Given the description of an element on the screen output the (x, y) to click on. 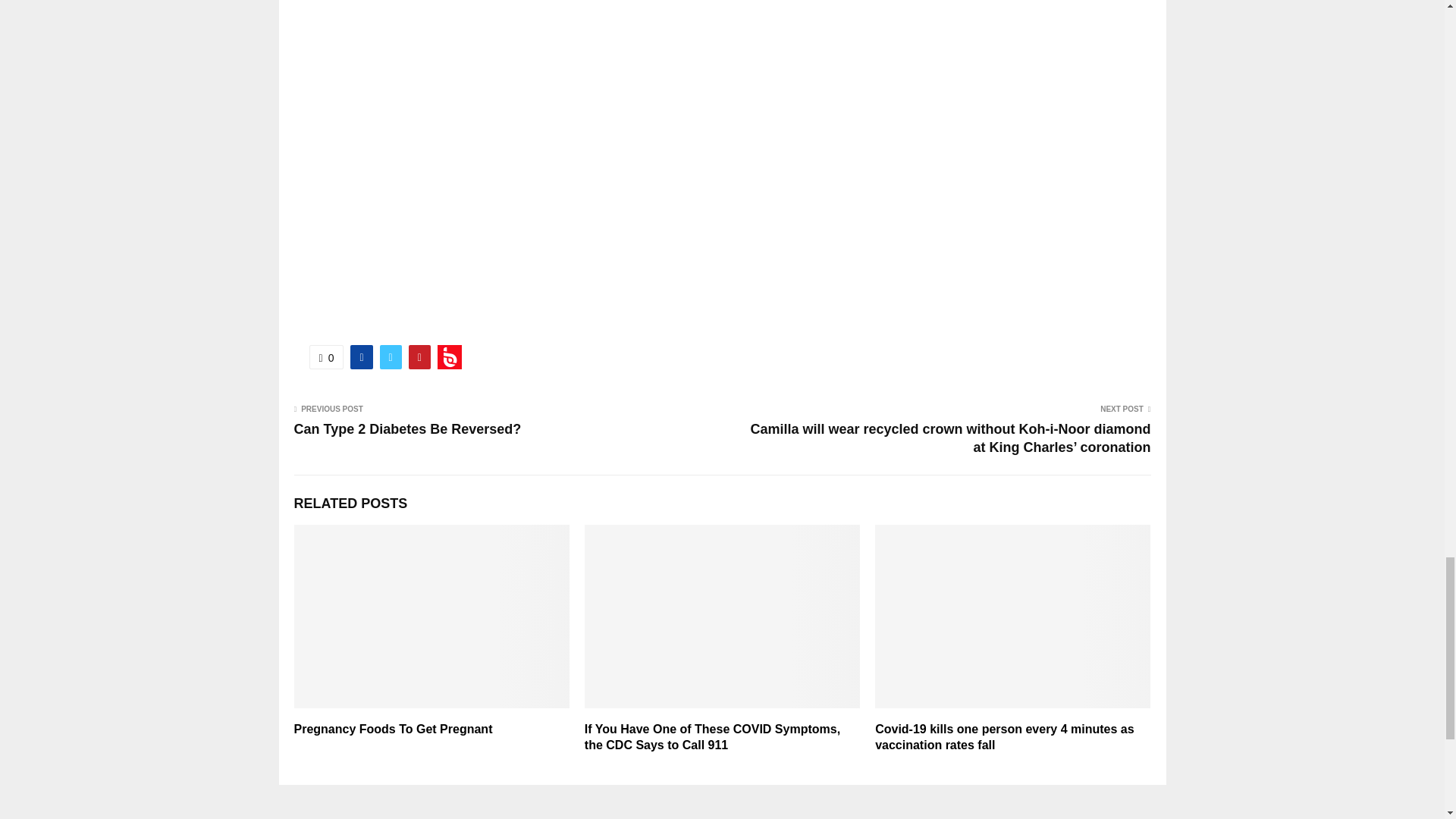
Advertisement (722, 38)
Pregnancy Foods To Get Pregnant (393, 728)
Can Type 2 Diabetes Be Reversed? (407, 428)
Like (325, 356)
0 (325, 356)
